Given the description of an element on the screen output the (x, y) to click on. 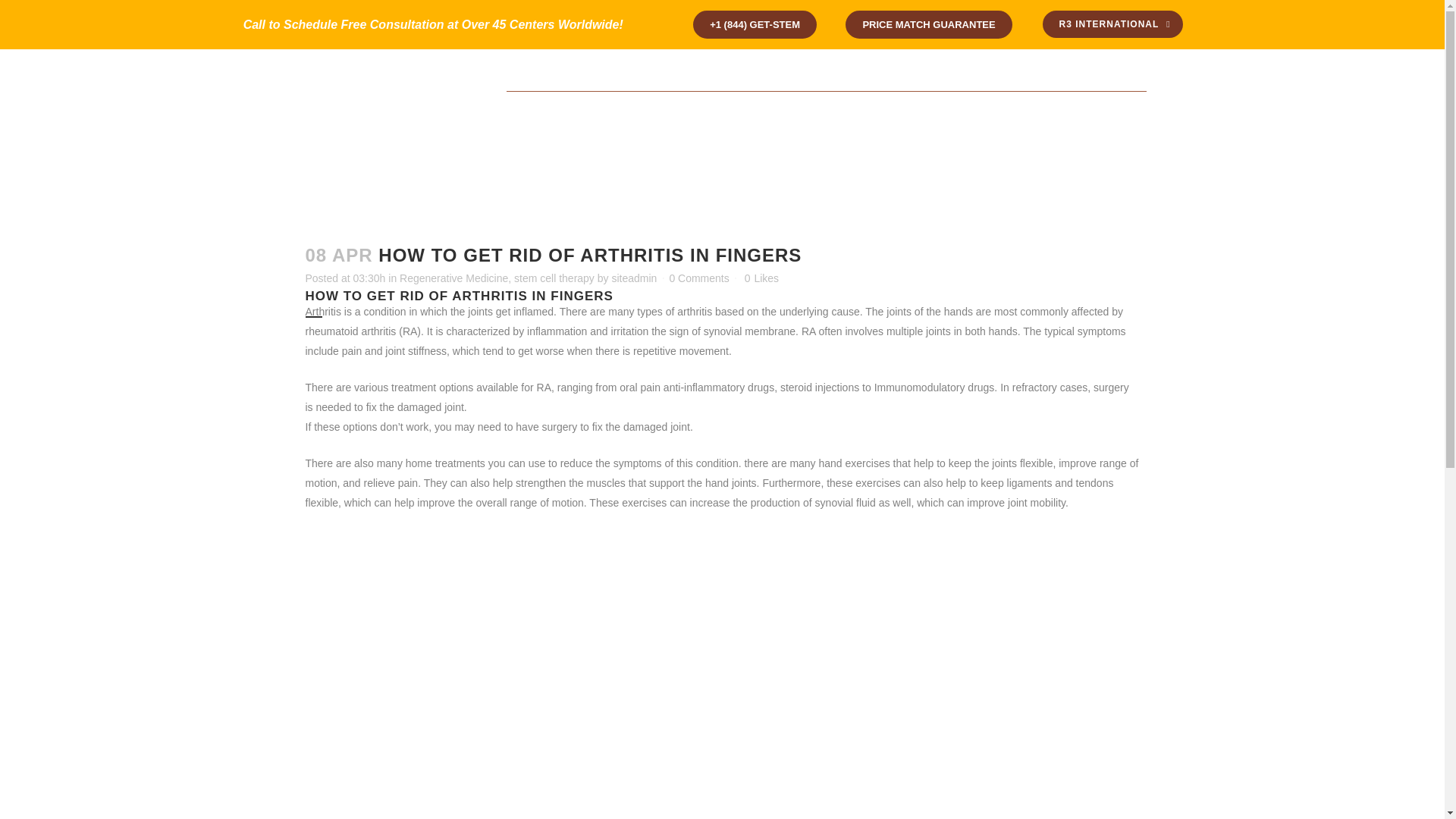
R3 INTERNATIONAL (1112, 23)
FIND A DOCTOR (659, 77)
SUCCESS STORIES (676, 116)
Like this (761, 277)
CONTACT (843, 77)
HOME (579, 116)
STEM CELLS (876, 116)
ABOUT (782, 116)
FREE WEBINAR (761, 77)
PRICE MATCH GUARANTEE (928, 24)
FREE PROVIDERS (933, 77)
